Given the description of an element on the screen output the (x, y) to click on. 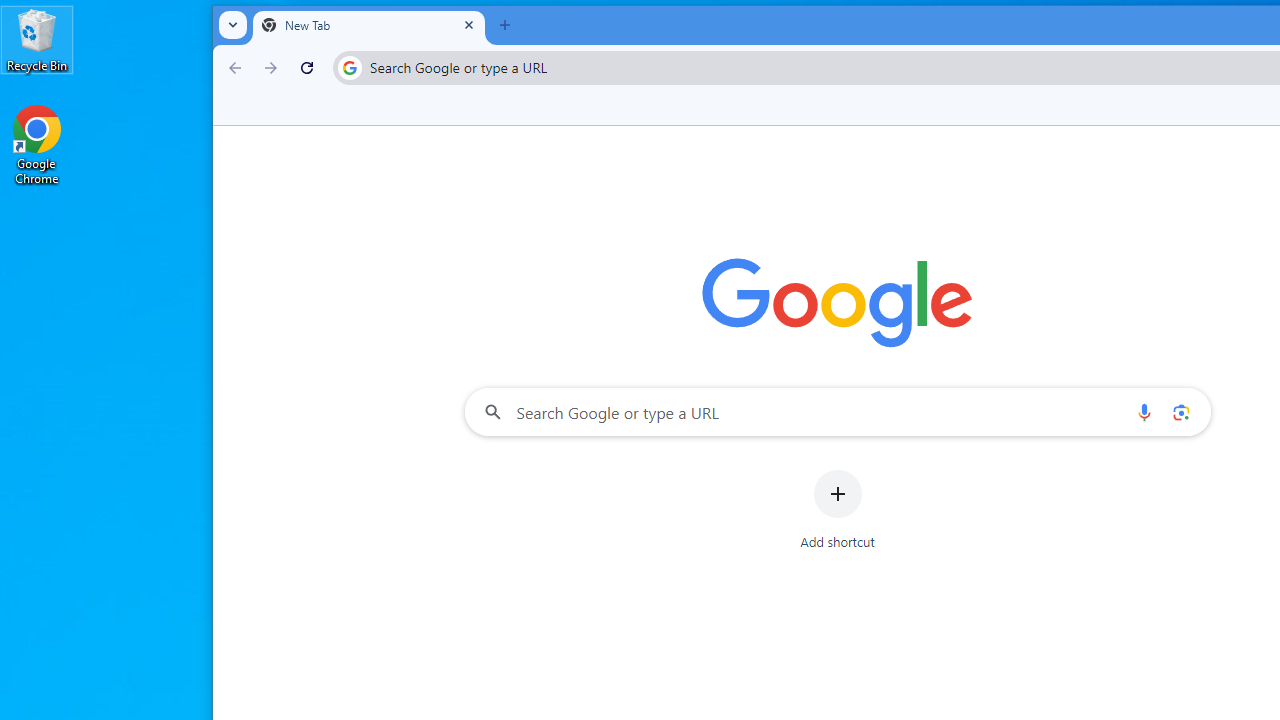
Recycle Bin (37, 39)
Google Chrome (37, 144)
